Given the description of an element on the screen output the (x, y) to click on. 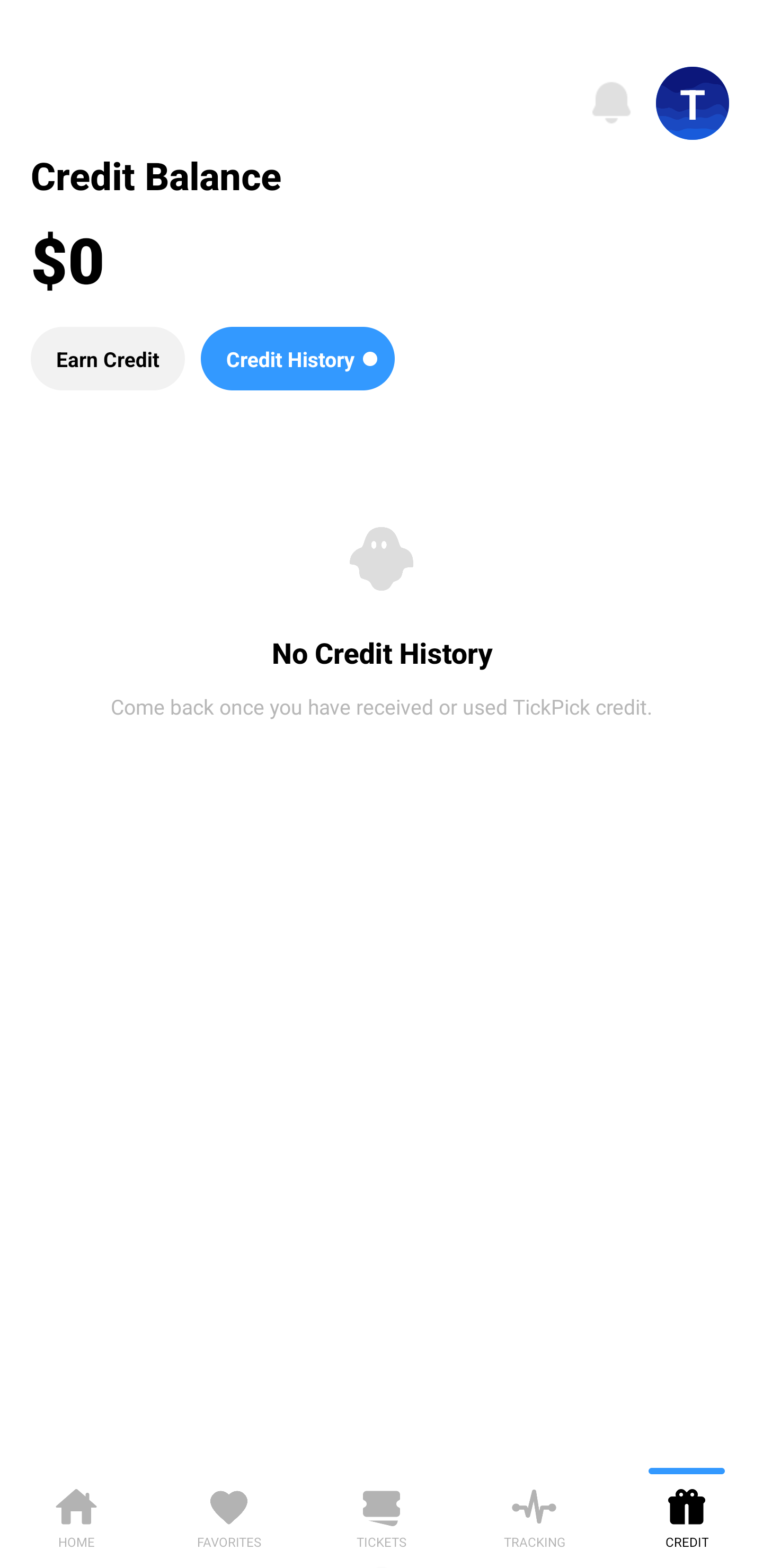
T (692, 103)
Earn Credit (107, 358)
Credit History (297, 358)
HOME (76, 1515)
FAVORITES (228, 1515)
TICKETS (381, 1515)
TRACKING (533, 1515)
CREDIT (686, 1515)
